Given the description of an element on the screen output the (x, y) to click on. 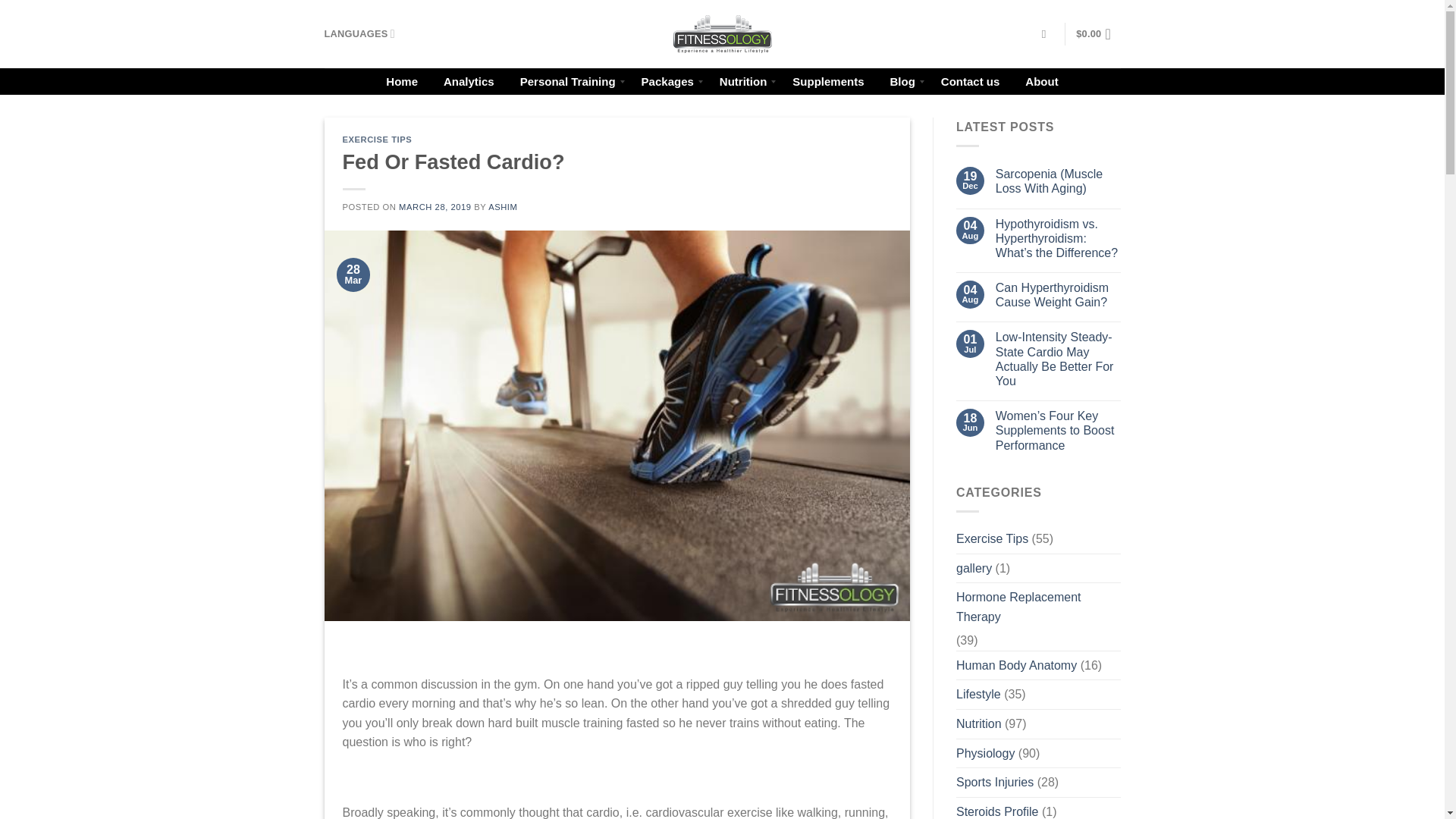
Nutrition (742, 80)
Personal Training (567, 80)
Cart (1097, 33)
MARCH 28, 2019 (434, 206)
About (1040, 80)
ASHIM (501, 206)
Analytics (468, 80)
LANGUAGES (359, 33)
EXERCISE TIPS (377, 139)
Blog (901, 80)
